Given the description of an element on the screen output the (x, y) to click on. 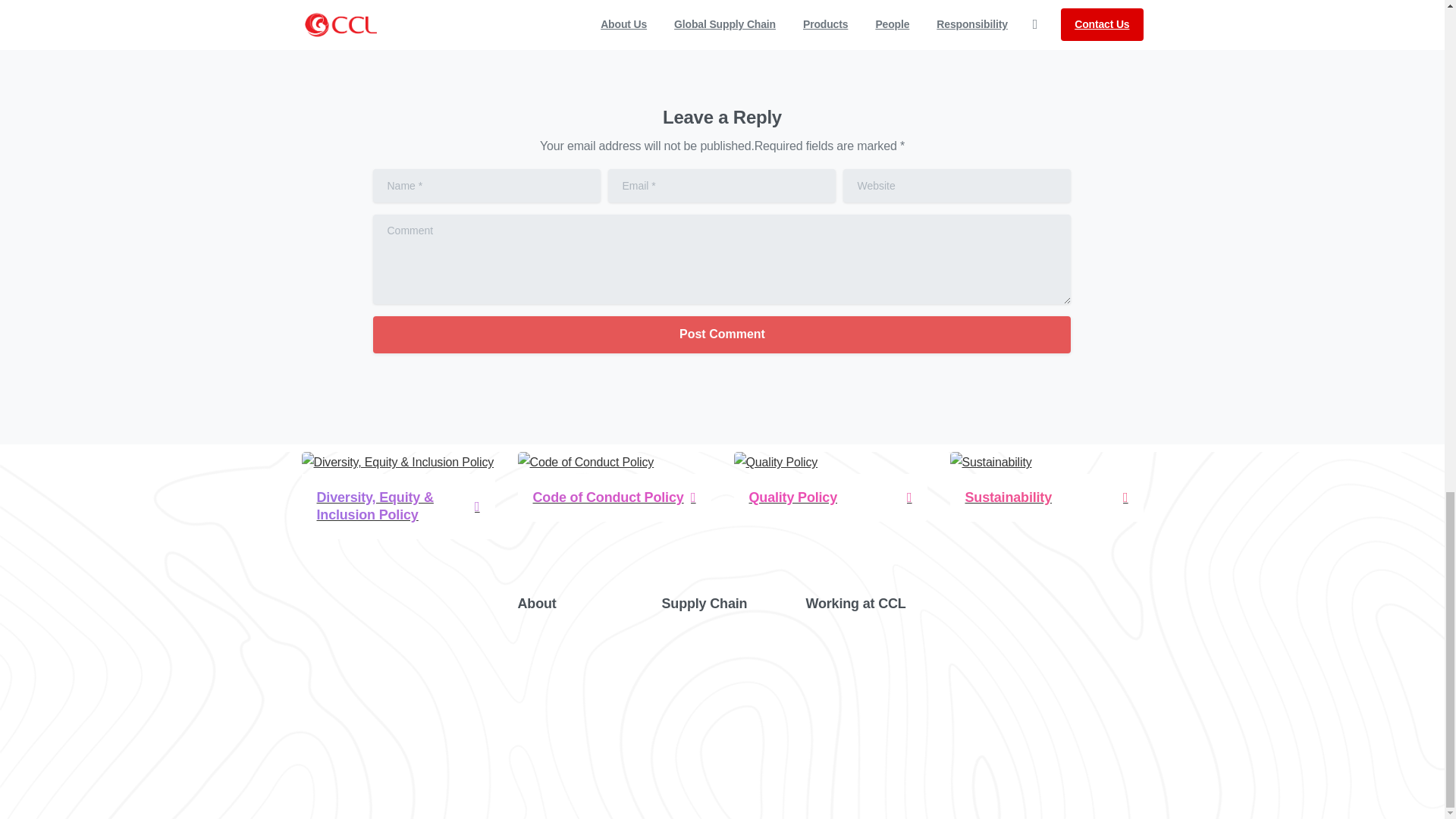
Post Comment (721, 334)
